Given the description of an element on the screen output the (x, y) to click on. 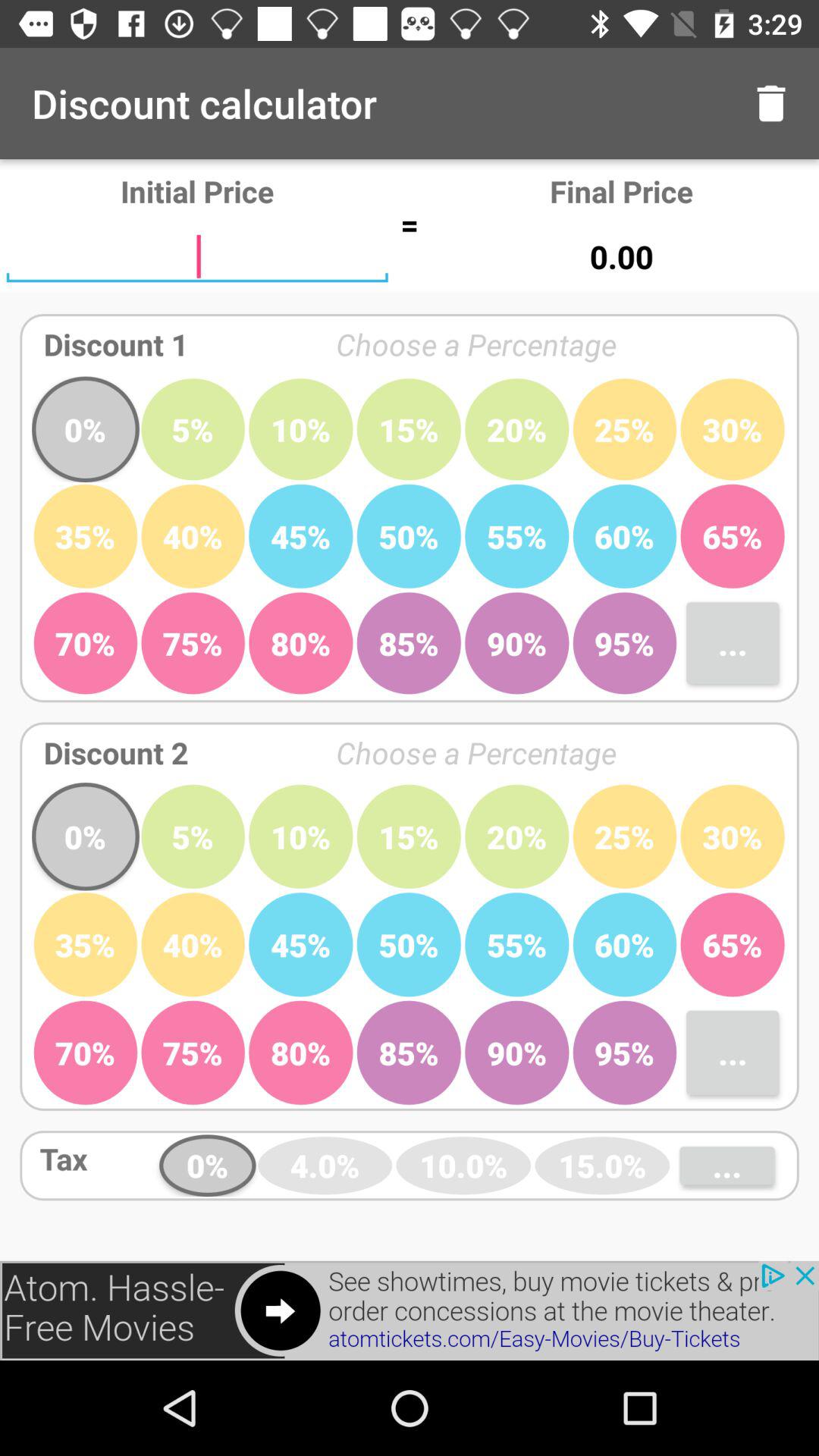
advertisement (409, 1310)
